Given the description of an element on the screen output the (x, y) to click on. 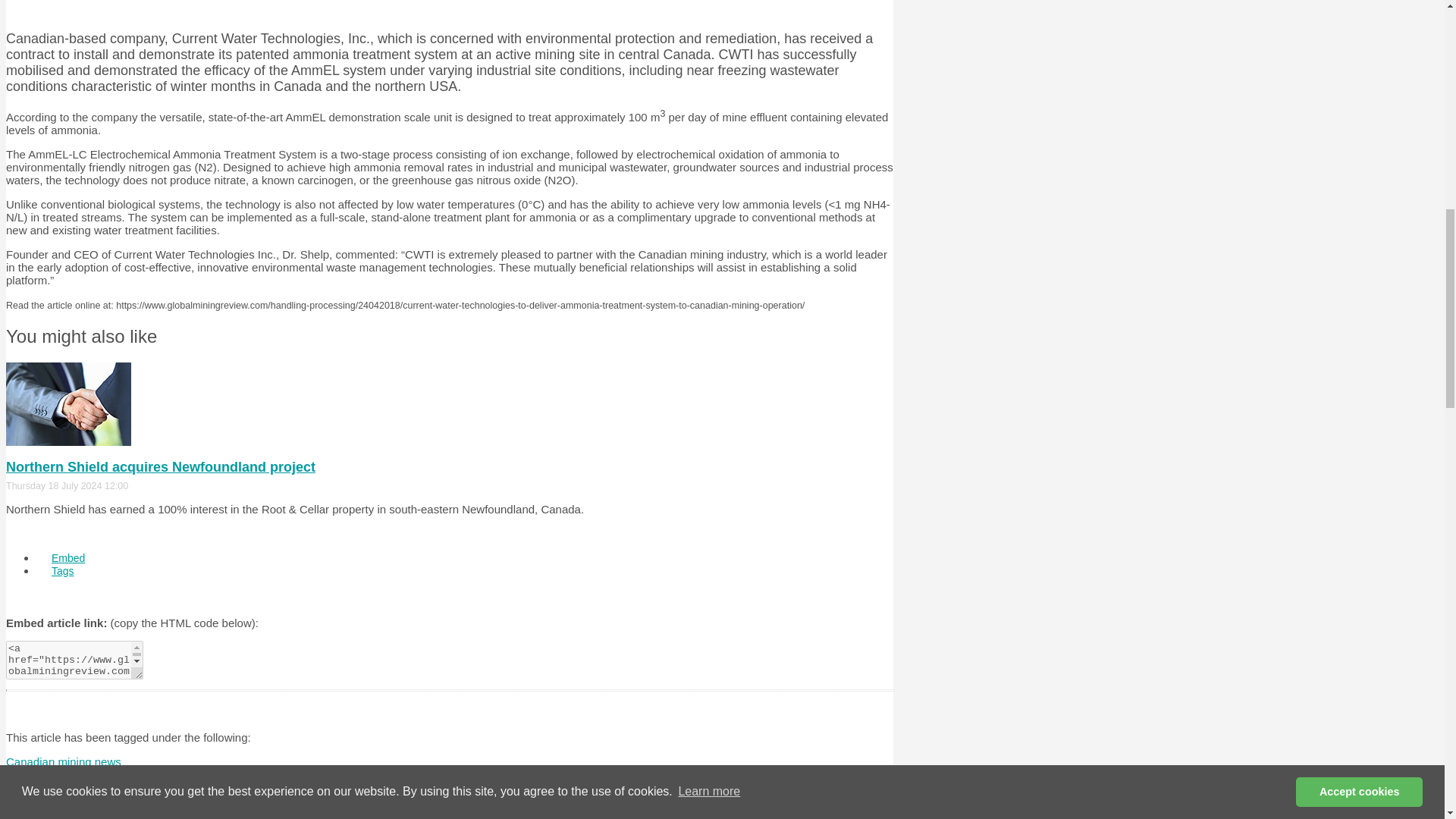
Northern Shield acquires Newfoundland project (160, 467)
Embed (68, 557)
Tags (62, 570)
3rd party ad content (449, 7)
Canadian mining news (62, 761)
